Given the description of an element on the screen output the (x, y) to click on. 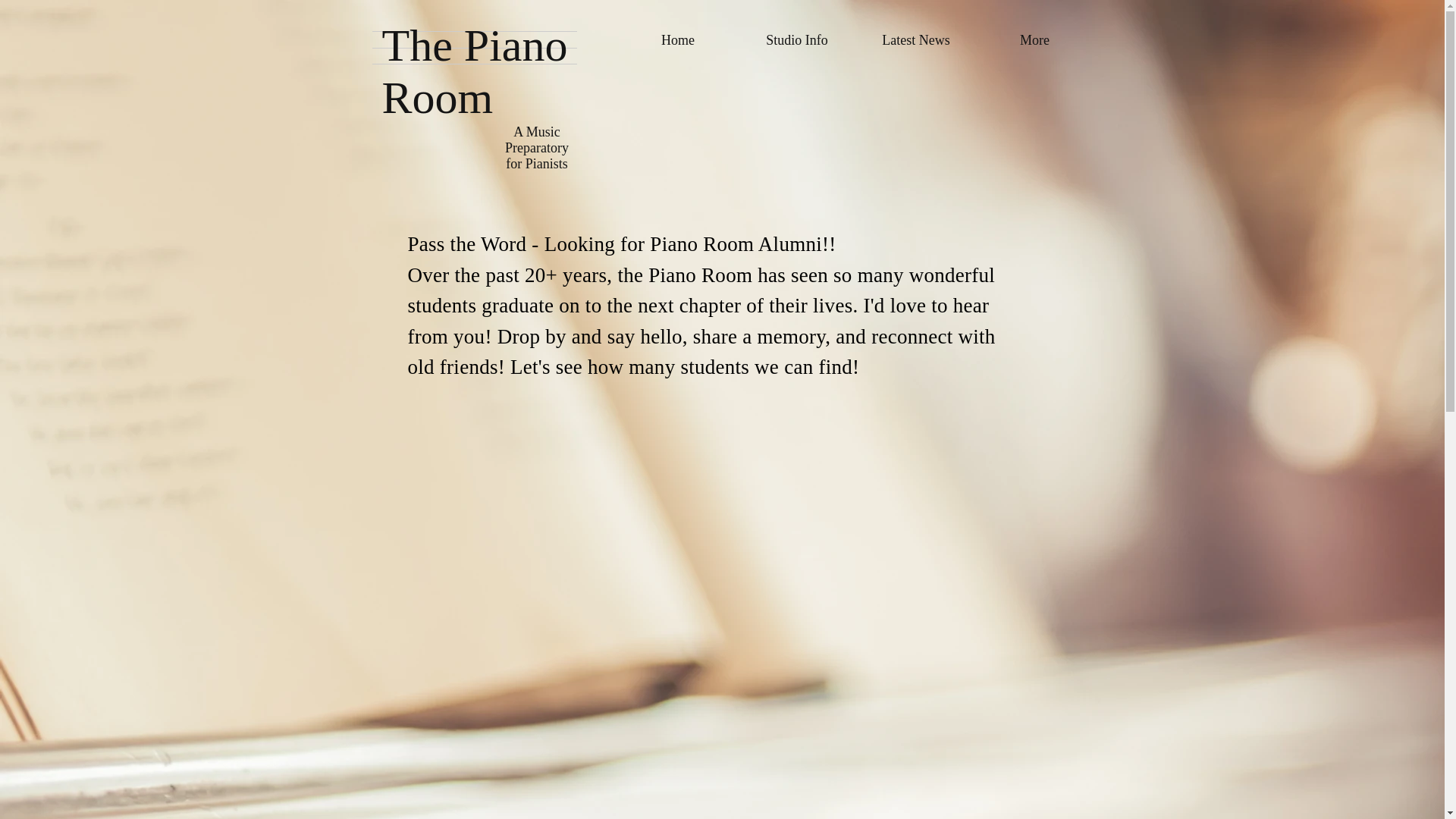
Studio Info (796, 39)
Latest News (916, 39)
Home (678, 39)
